Given the description of an element on the screen output the (x, y) to click on. 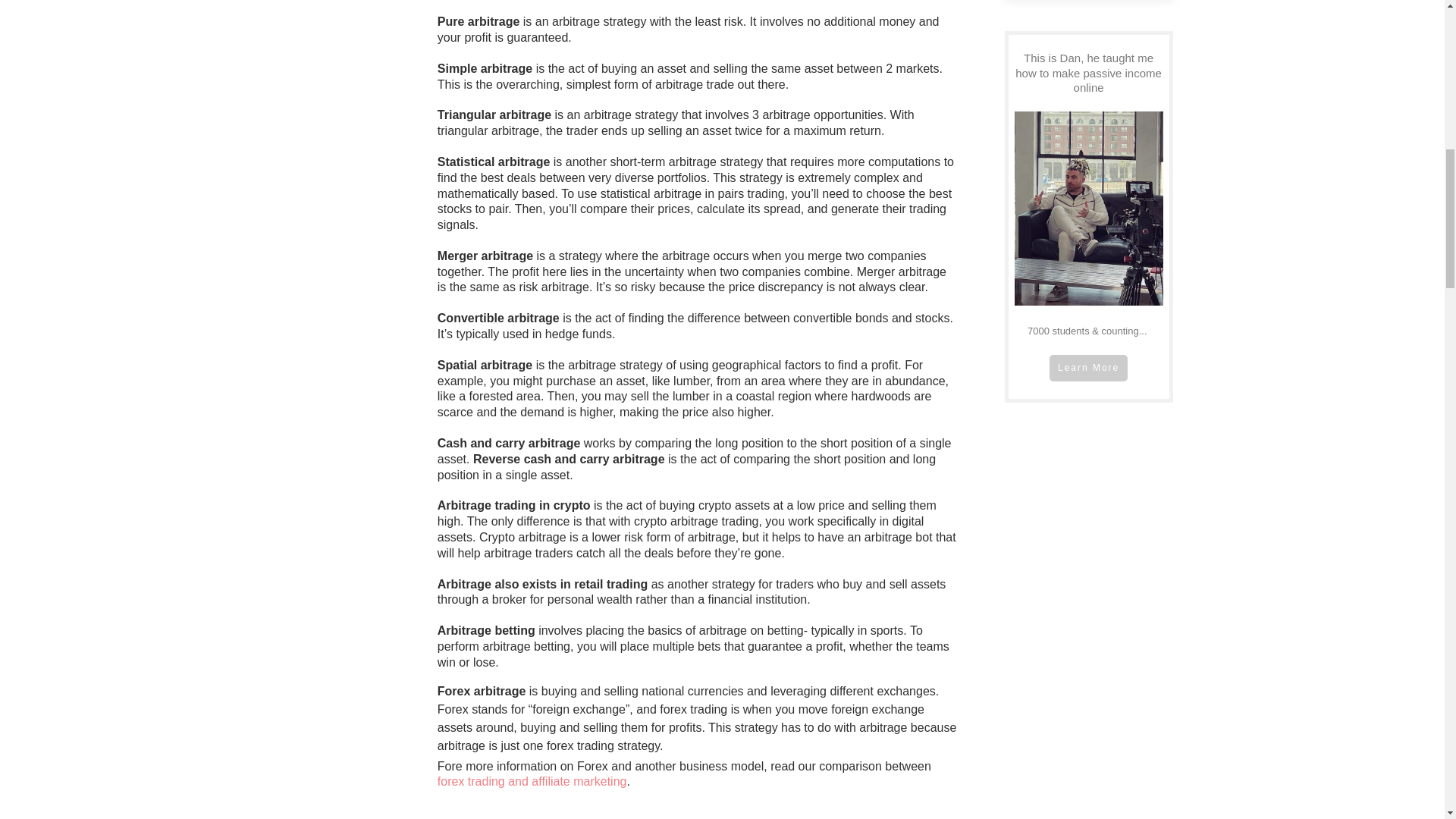
Learn More (1087, 368)
forex trading and affiliate marketing (532, 780)
